Given the description of an element on the screen output the (x, y) to click on. 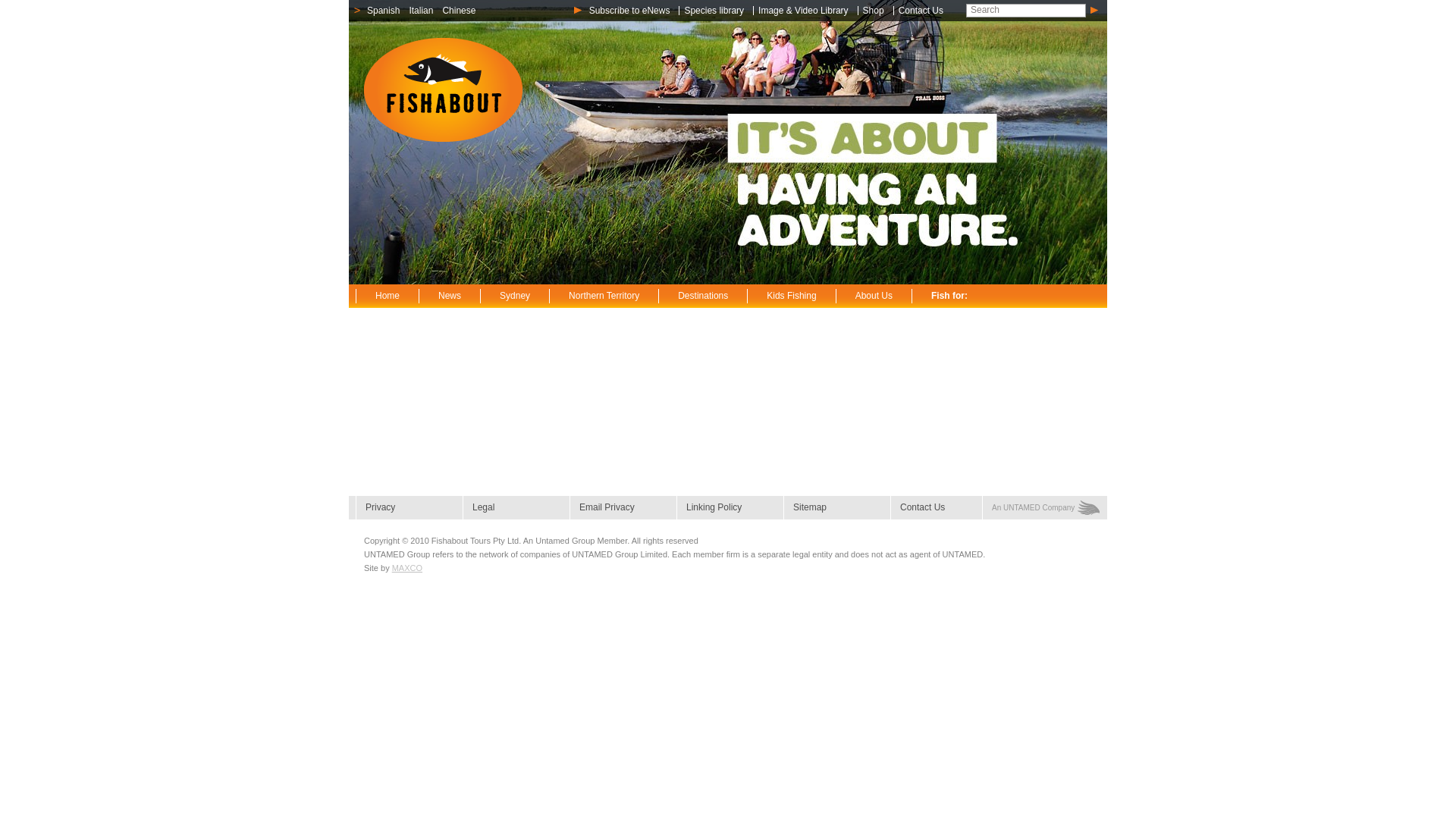
Shop Element type: text (876, 10)
About Us Element type: text (873, 295)
Italian Element type: text (420, 10)
Species library Element type: text (716, 10)
Chinese Element type: text (458, 10)
Sydney Element type: text (514, 295)
Contact Us Element type: text (923, 10)
Legal Element type: text (515, 507)
News Element type: text (449, 295)
Spanish Element type: text (383, 10)
Kids Fishing Element type: text (790, 295)
Email Privacy Element type: text (622, 507)
Northern Territory Element type: text (603, 295)
Image & Video Library Element type: text (805, 10)
Contact Us Element type: text (933, 507)
Destinations Element type: text (702, 295)
Sitemap Element type: text (836, 507)
Fishabout Element type: text (443, 89)
Home Element type: text (386, 295)
Linking Policy Element type: text (729, 507)
Privacy Element type: text (408, 507)
Subscribe to eNews Element type: text (632, 10)
MAXCO Element type: text (407, 567)
An UNTAMED Company Element type: text (1040, 507)
